Given the description of an element on the screen output the (x, y) to click on. 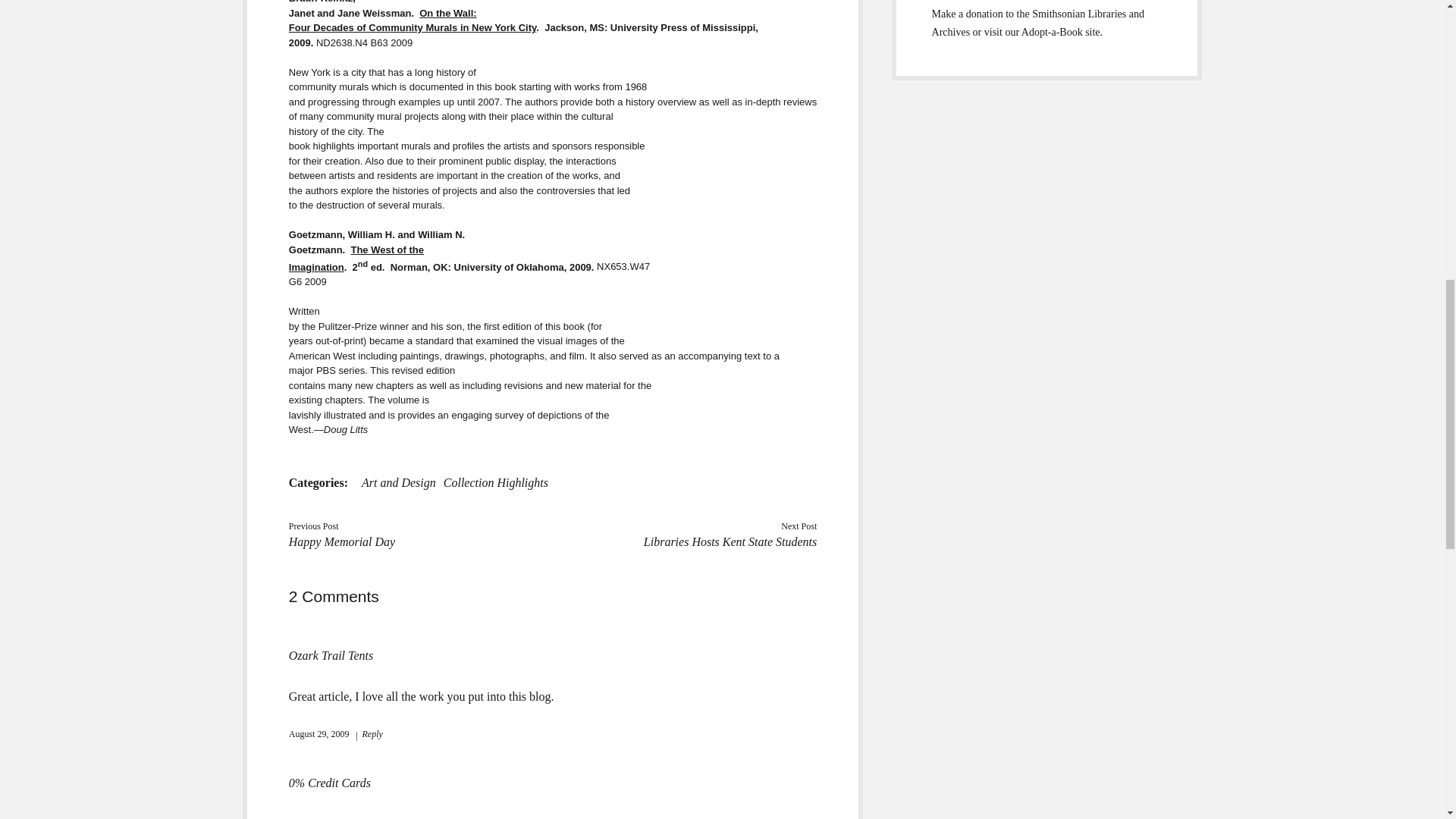
Libraries Hosts Kent State Students (729, 541)
Happy Memorial Day (355, 258)
Ozark Trail Tents (341, 541)
Art and Design (330, 655)
View all posts in Art and Design (398, 481)
Collection Highlights (398, 481)
View all posts in Collection Highlights (496, 481)
Reply (496, 481)
